Given the description of an element on the screen output the (x, y) to click on. 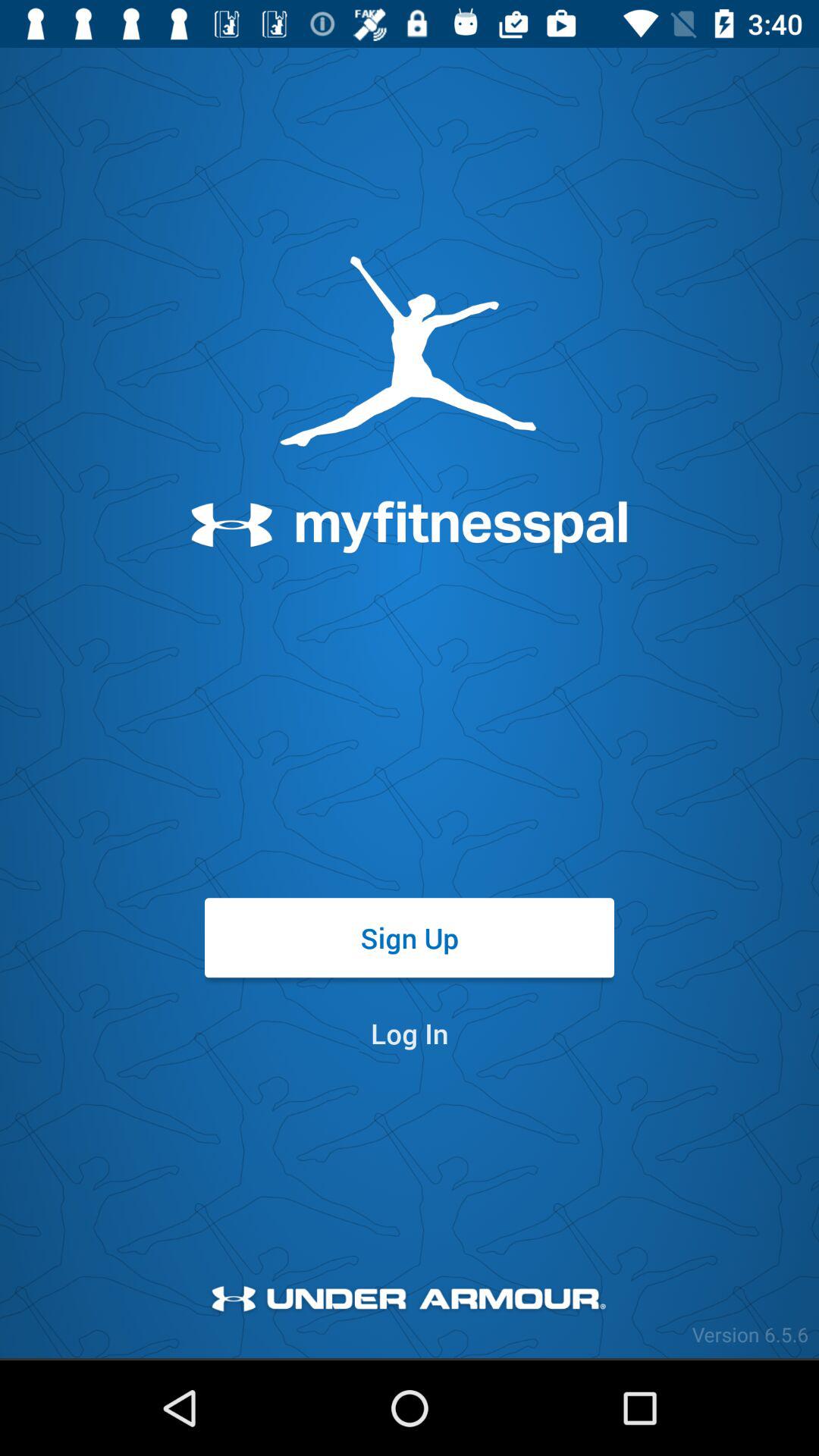
scroll until sign up (409, 937)
